Given the description of an element on the screen output the (x, y) to click on. 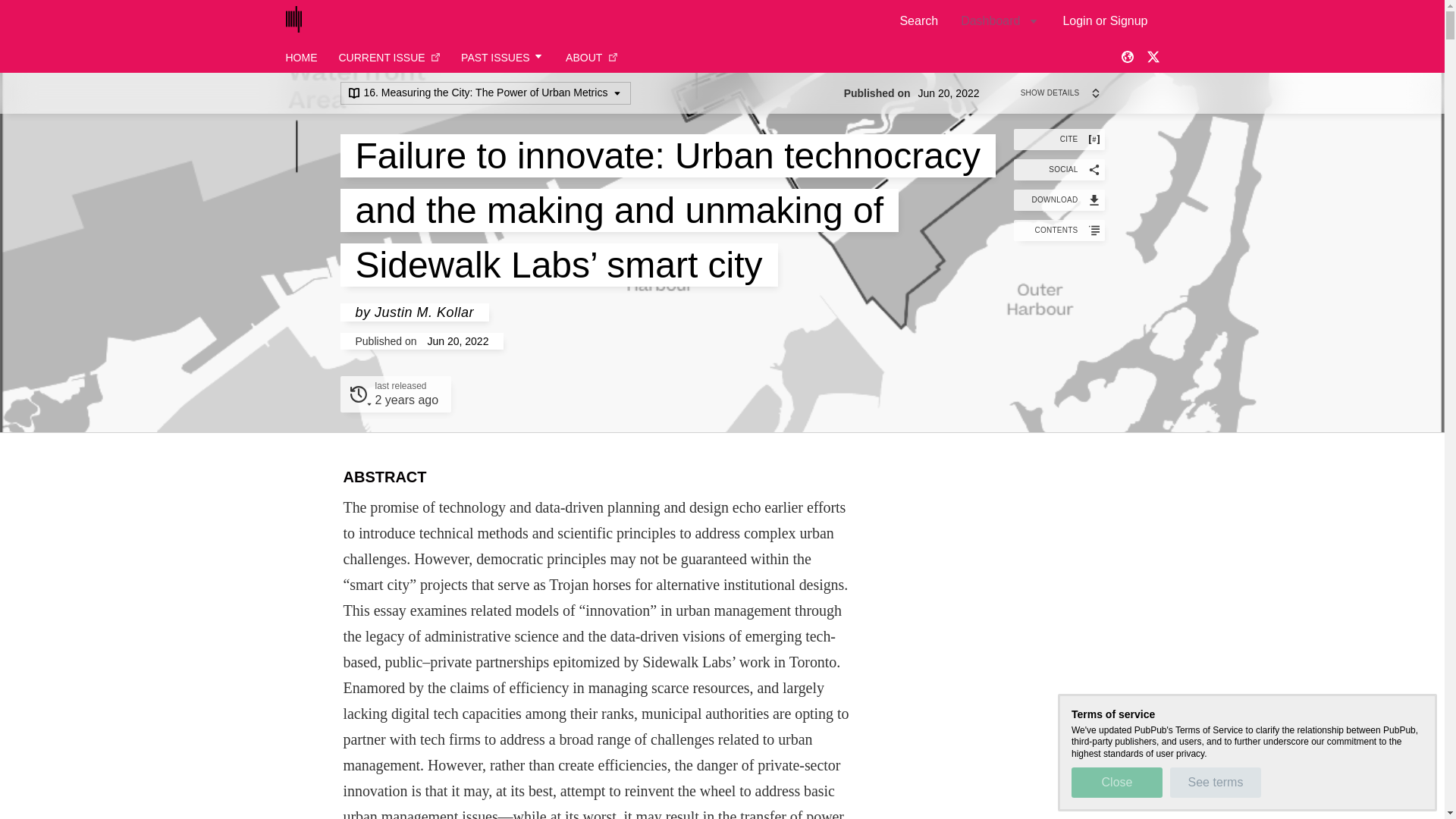
SOCIAL (1058, 169)
16. Measuring the City: The Power of Urban Metrics (484, 92)
HOME (301, 57)
See terms (1215, 782)
ABOUT (591, 57)
Dashboard (696, 82)
DOWNLOAD (1000, 20)
Close (1058, 199)
Search (1116, 782)
